Given the description of an element on the screen output the (x, y) to click on. 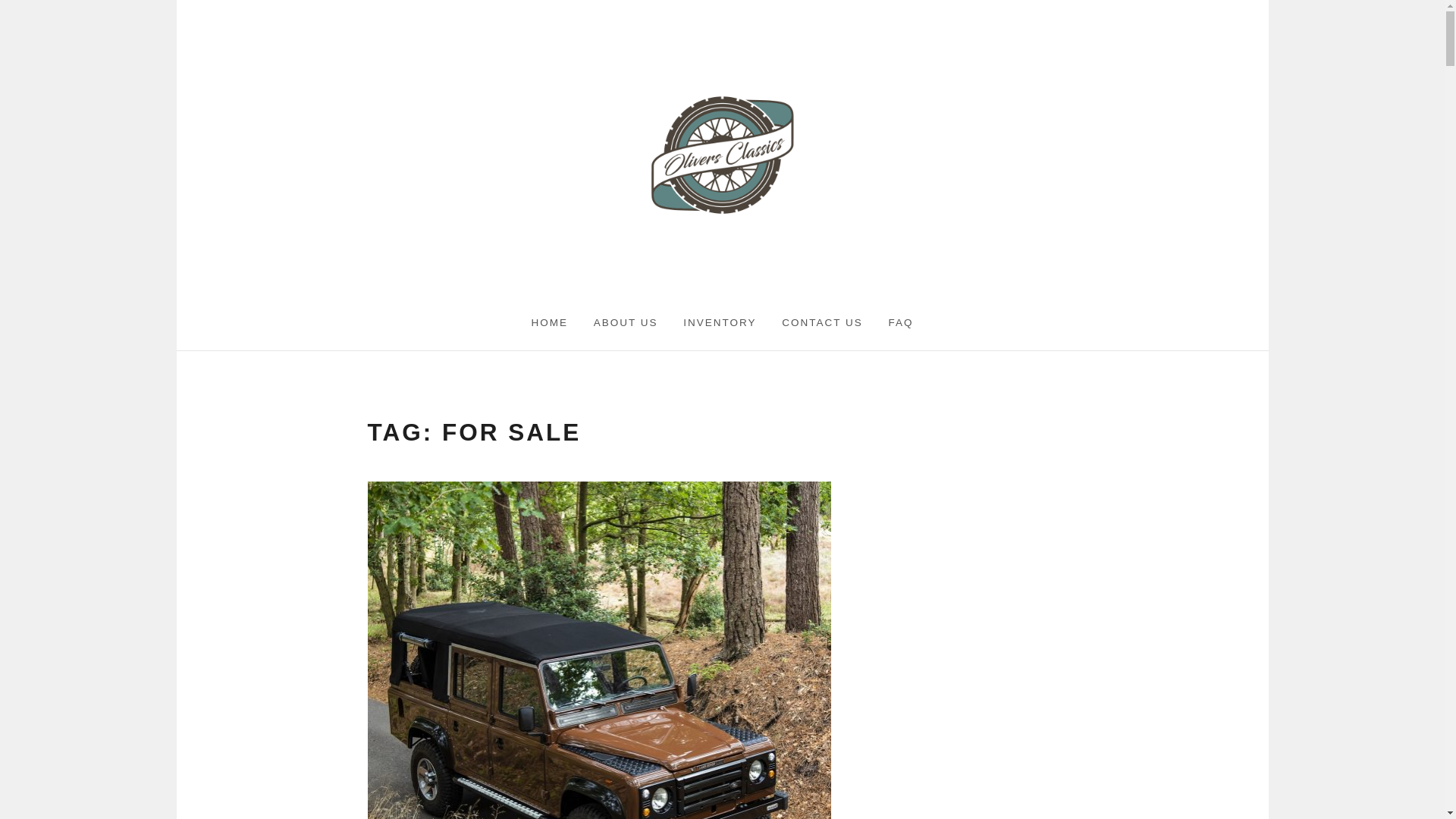
ABOUT US (625, 322)
SKIP TO CONTENT (28, 17)
HOME (549, 322)
INVENTORY (718, 322)
FAQ (901, 322)
OLIVERS CLASSICS (745, 228)
CONTACT US (821, 322)
